Given the description of an element on the screen output the (x, y) to click on. 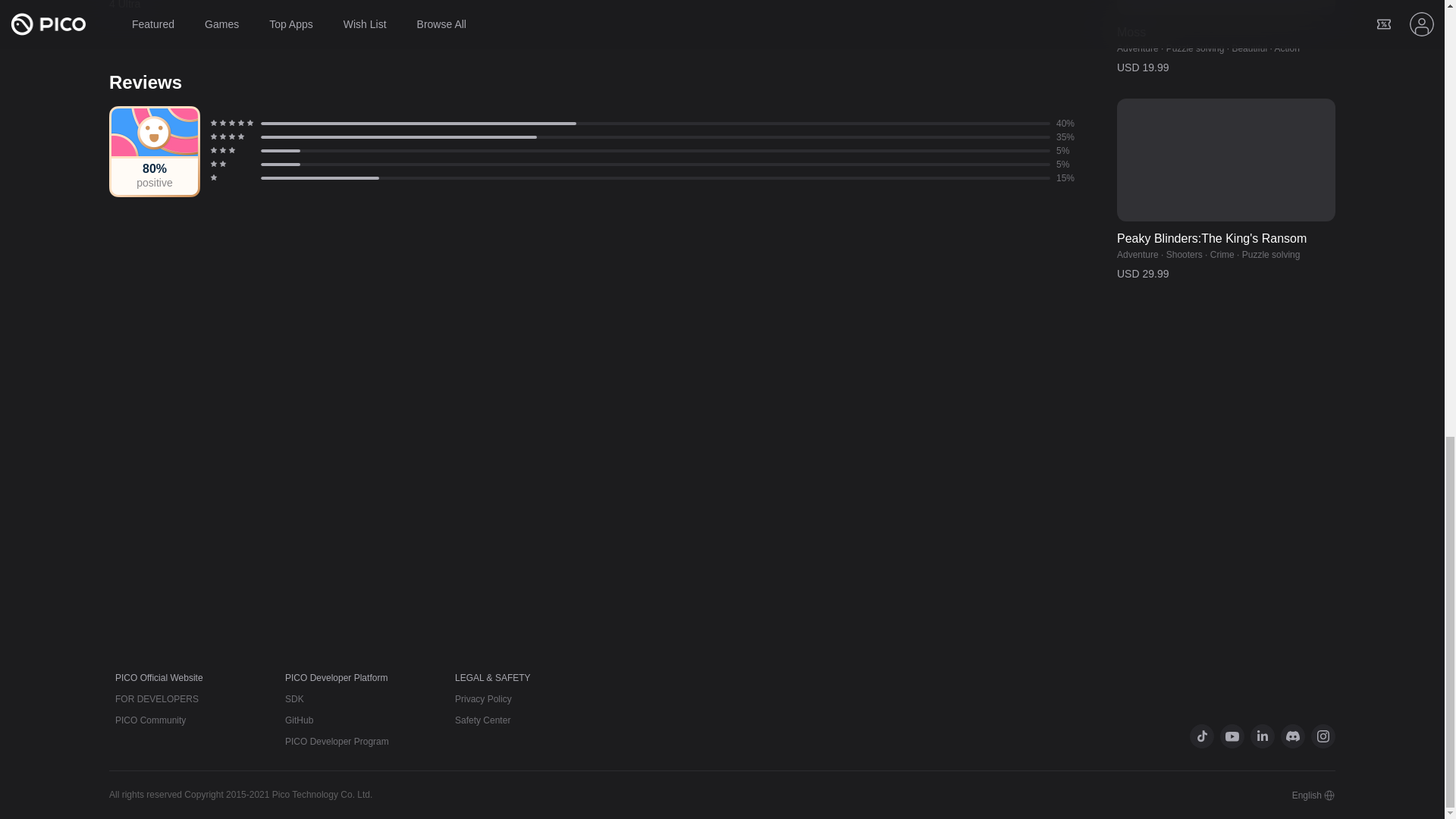
SDK (294, 698)
No. 8 Paid (1225, 7)
FOR DEVELOPERS (156, 698)
GitHub (299, 719)
PICO Developer Program (336, 741)
Safety Center (482, 719)
Privacy Policy (483, 698)
PICO Community (150, 719)
